Given the description of an element on the screen output the (x, y) to click on. 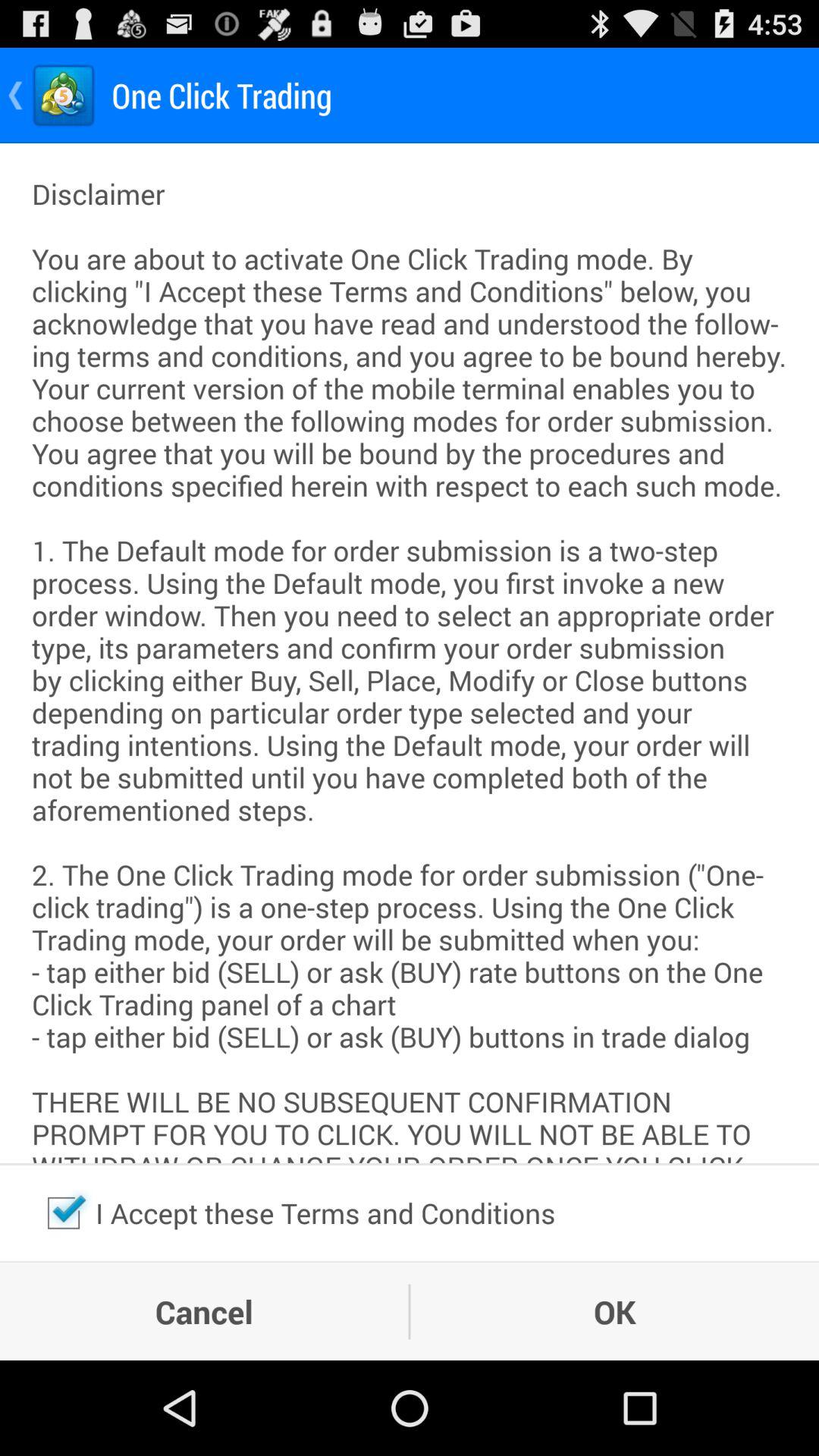
unchecks the terms and conditions box (63, 1212)
